Given the description of an element on the screen output the (x, y) to click on. 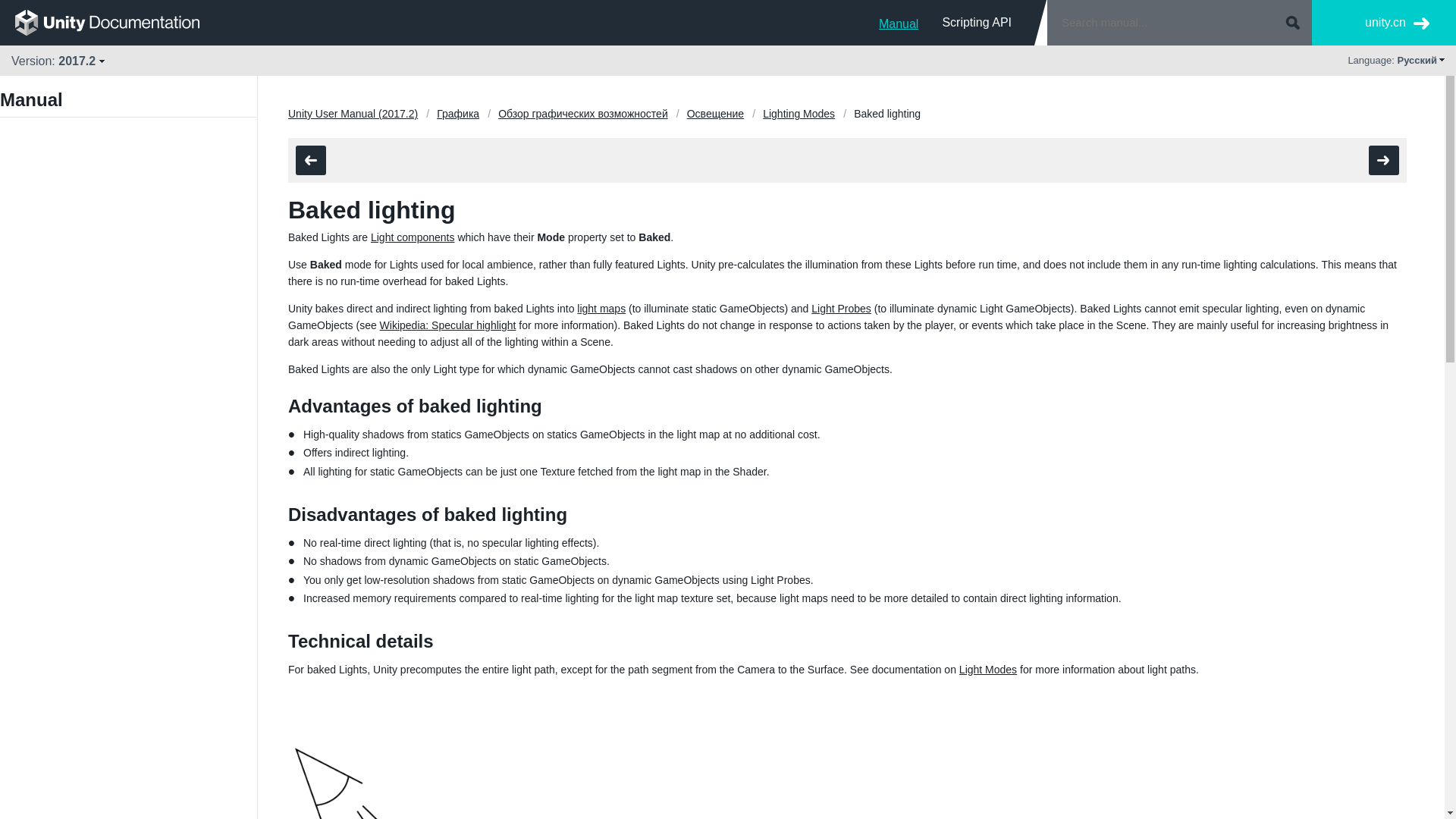
Manual (898, 22)
unity.cn (1397, 22)
Scripting API (976, 22)
